Given the description of an element on the screen output the (x, y) to click on. 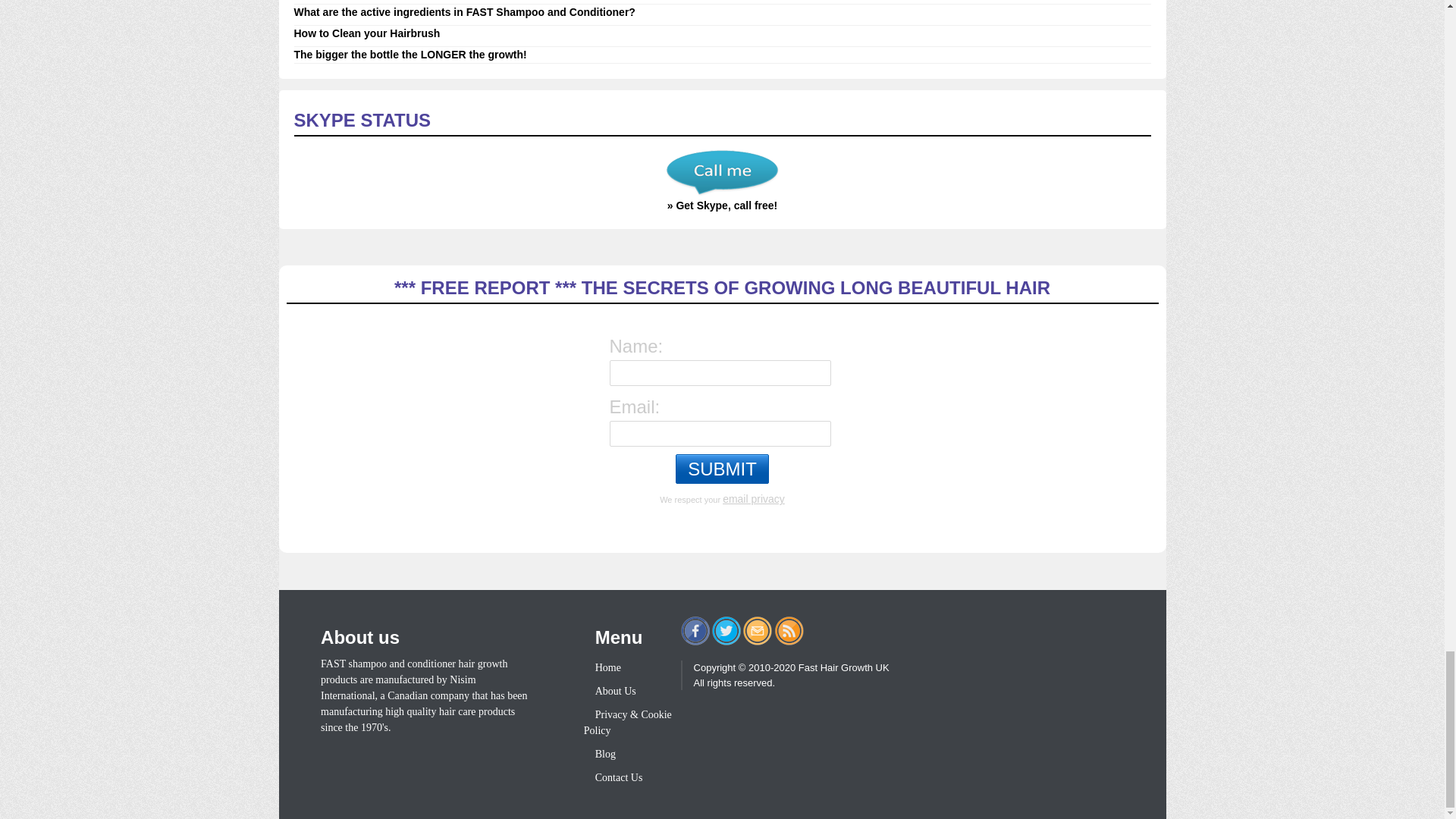
Privacy Policy (753, 499)
Submit (721, 469)
Call me! - FAST Hair UK (721, 173)
